Given the description of an element on the screen output the (x, y) to click on. 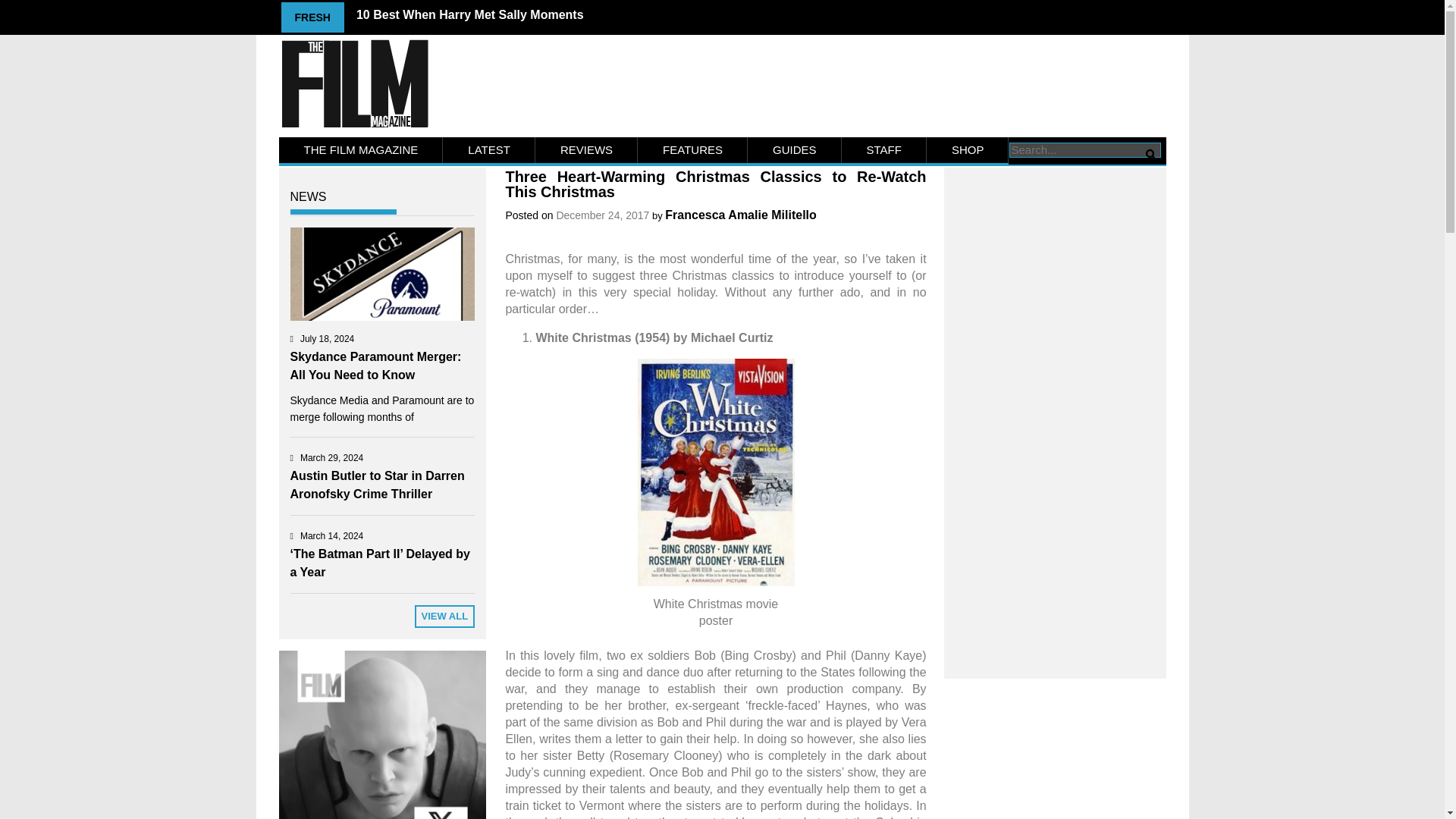
FEATURES (692, 149)
GUIDES (794, 149)
STAFF (883, 149)
10 Best When Harry Met Sally Moments (469, 14)
REVIEWS (586, 149)
LATEST (488, 149)
THE FILM MAGAZINE (361, 149)
SHOP (967, 149)
10 Best When Harry Met Sally Moments (469, 14)
